Given the description of an element on the screen output the (x, y) to click on. 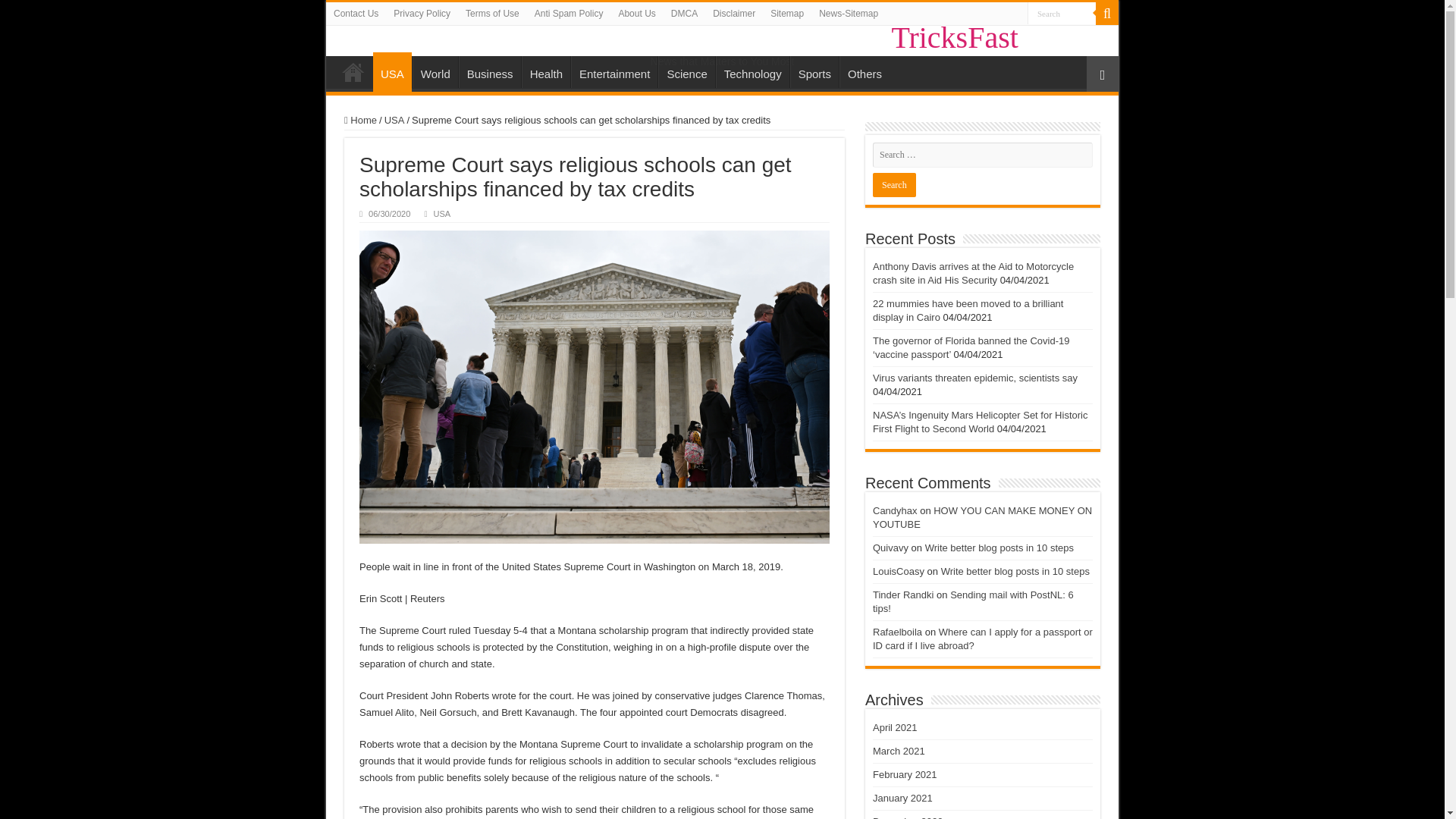
News-Sitemap (847, 13)
Search (1061, 13)
Others (864, 71)
Home (352, 71)
Technology (752, 71)
Search (1107, 13)
USA (440, 213)
Disclaimer (733, 13)
Terms of Use (492, 13)
Search (1061, 13)
Entertainment (614, 71)
Search (1061, 13)
Privacy Policy (421, 13)
World (435, 71)
USA (392, 71)
